Given the description of an element on the screen output the (x, y) to click on. 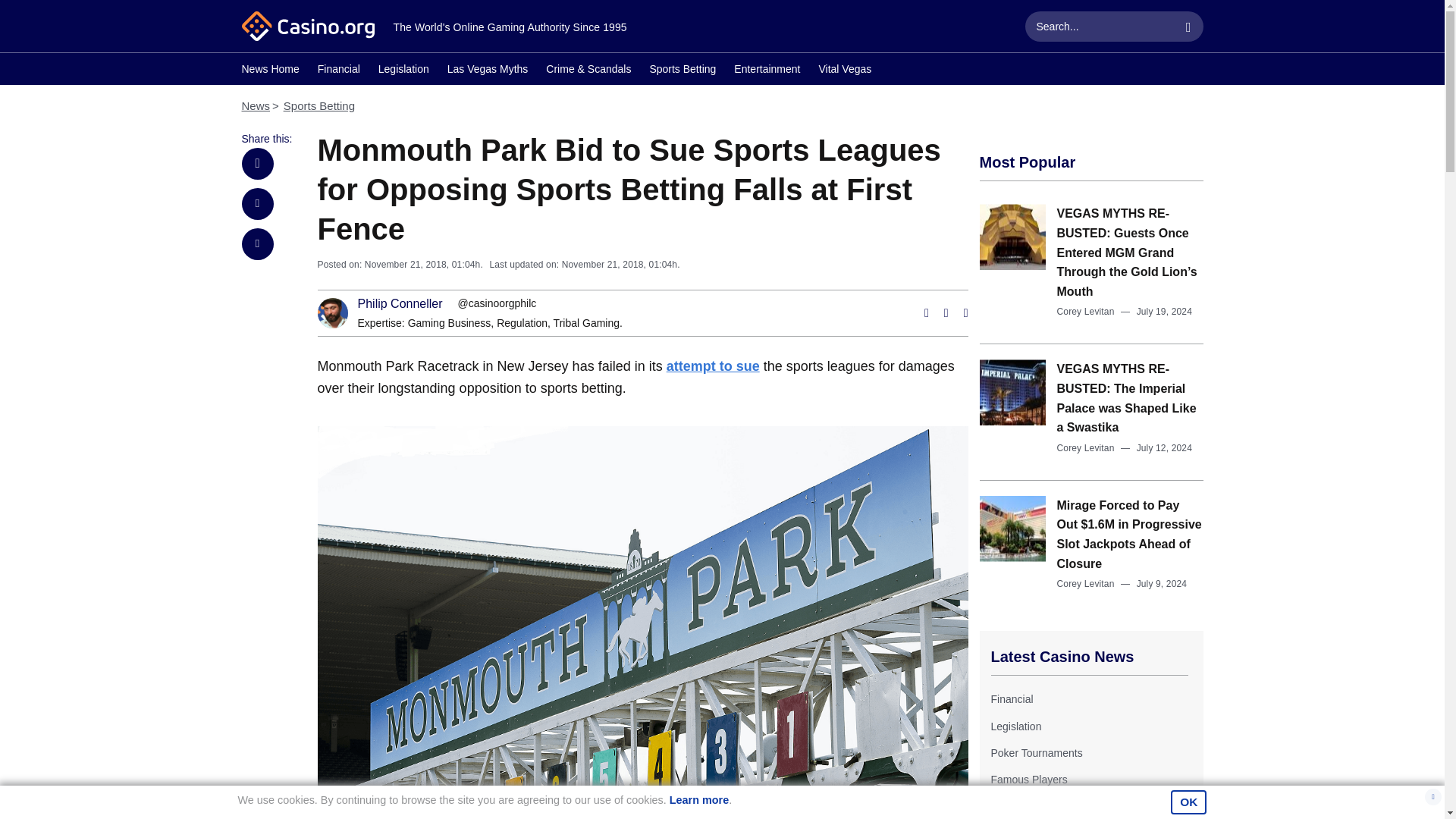
Corey Levitan (1086, 311)
Legislation (1015, 726)
Sports Betting (682, 70)
Financial (1011, 698)
Philip Conneller (400, 304)
Gaming Business (449, 322)
Vital Vegas (845, 70)
News Home (269, 70)
Corey Levitan (1086, 583)
Corey Levitan (1086, 448)
Financial (1011, 698)
Entertainment (766, 70)
Legislation (403, 70)
Regulation (521, 322)
